Given the description of an element on the screen output the (x, y) to click on. 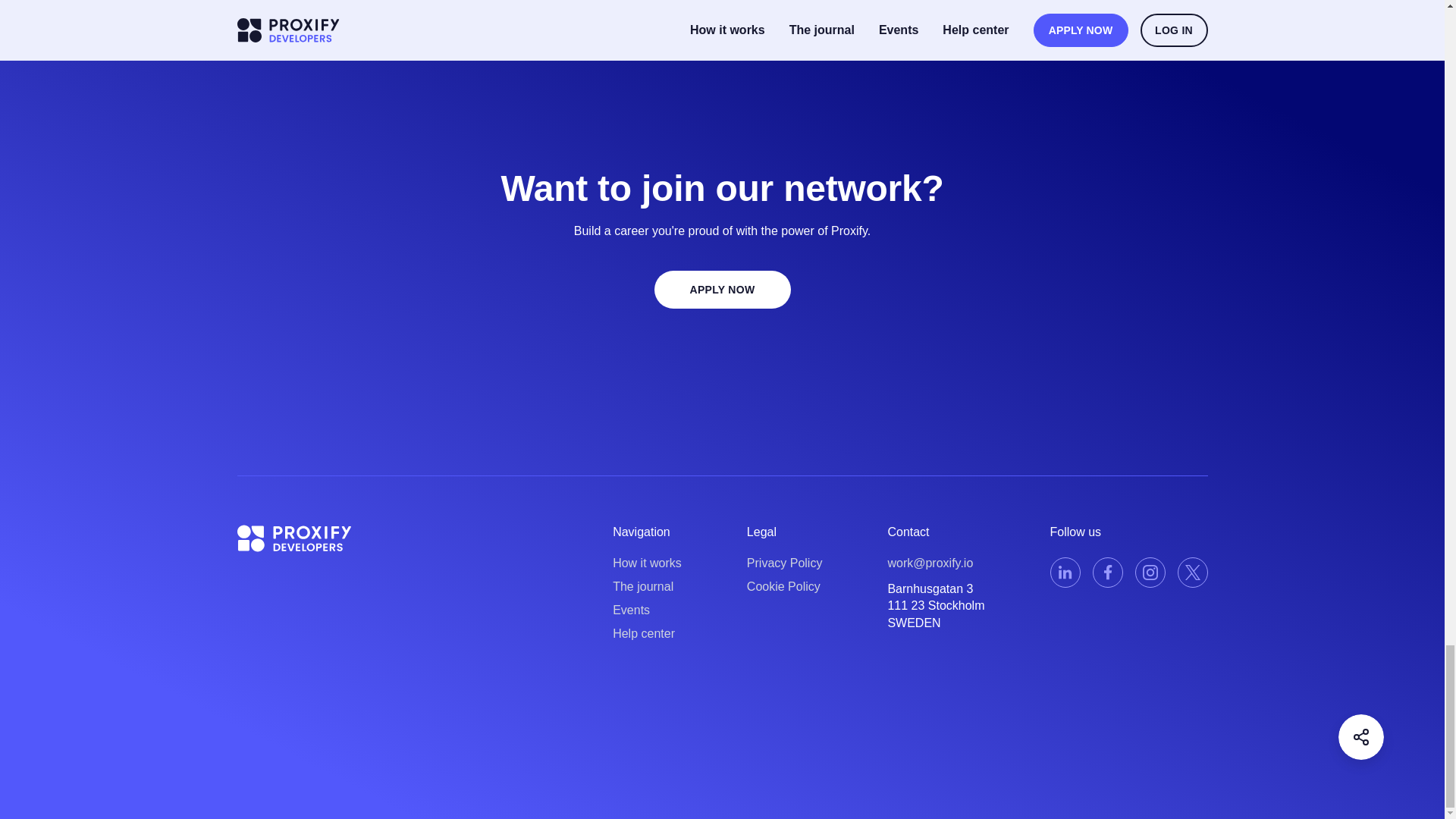
Events (646, 609)
Privacy Policy (784, 562)
How it works (646, 562)
Help center (646, 633)
APPLY NOW (721, 289)
The journal (646, 586)
Cookie Policy (784, 586)
